Given the description of an element on the screen output the (x, y) to click on. 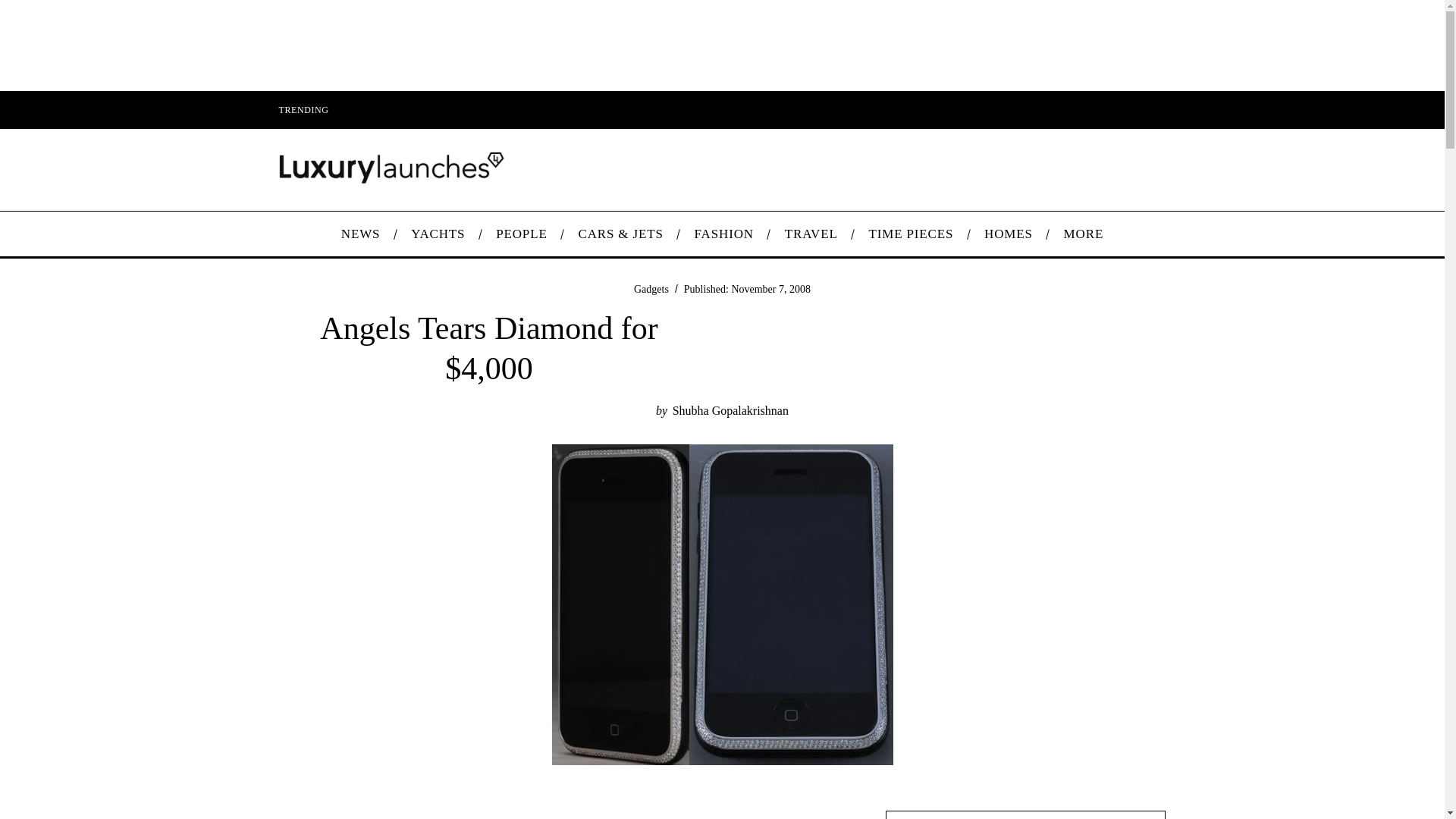
Shubha Gopalakrishnan (730, 410)
TIME PIECES (911, 233)
TRENDING (302, 109)
MORE (1083, 233)
TRAVEL (810, 233)
FASHION (723, 233)
Gadgets (650, 288)
HOMES (1008, 233)
